Given the description of an element on the screen output the (x, y) to click on. 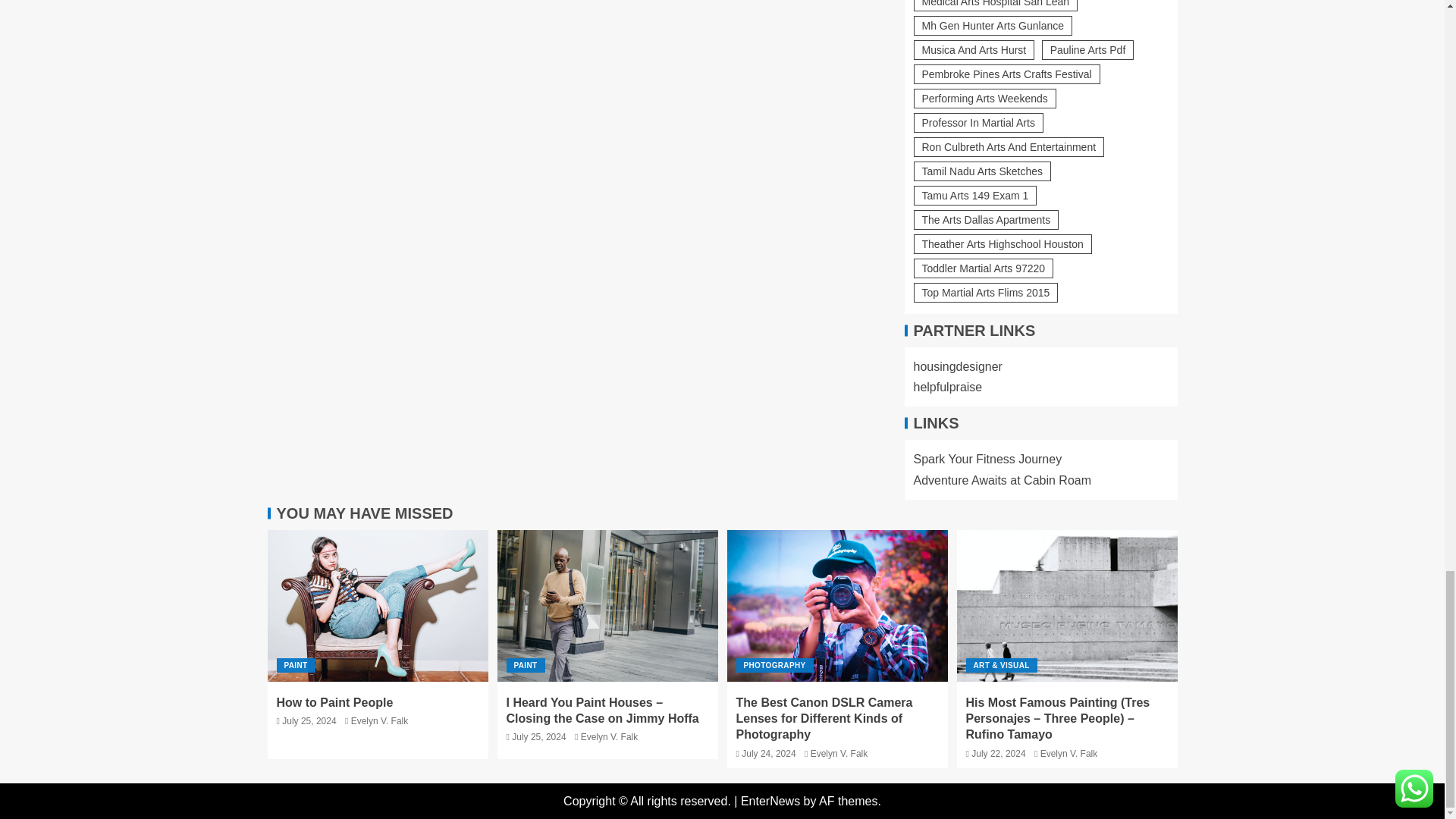
How to Paint People (376, 605)
